Given the description of an element on the screen output the (x, y) to click on. 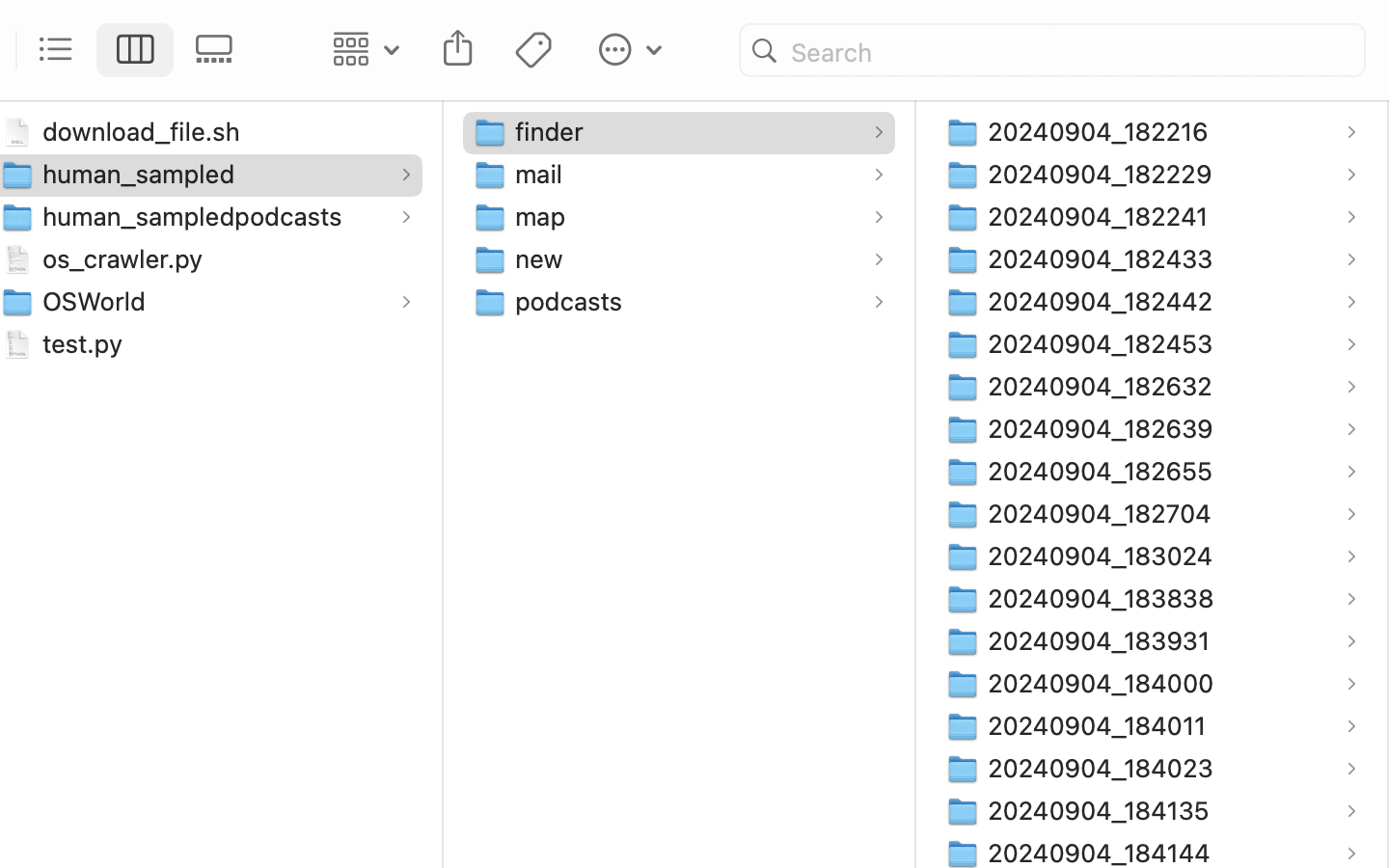
20240904_182433 Element type: AXTextField (1104, 258)
download_file.sh Element type: AXTextField (145, 130)
20240904_182453 Element type: AXTextField (1104, 342)
20240904_184000 Element type: AXTextField (1104, 682)
20240904_182632 Element type: AXTextField (1104, 385)
